Given the description of an element on the screen output the (x, y) to click on. 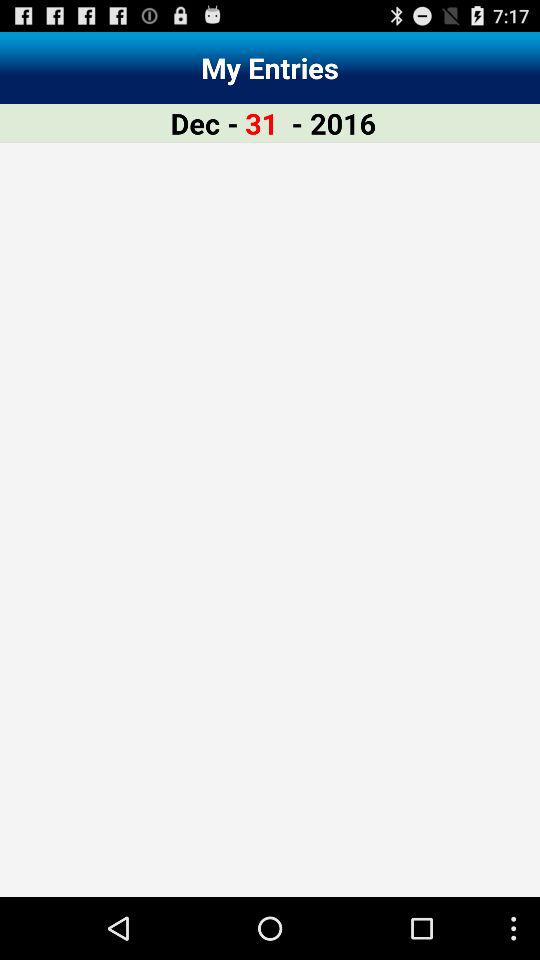
scroll until the 31 item (261, 122)
